Given the description of an element on the screen output the (x, y) to click on. 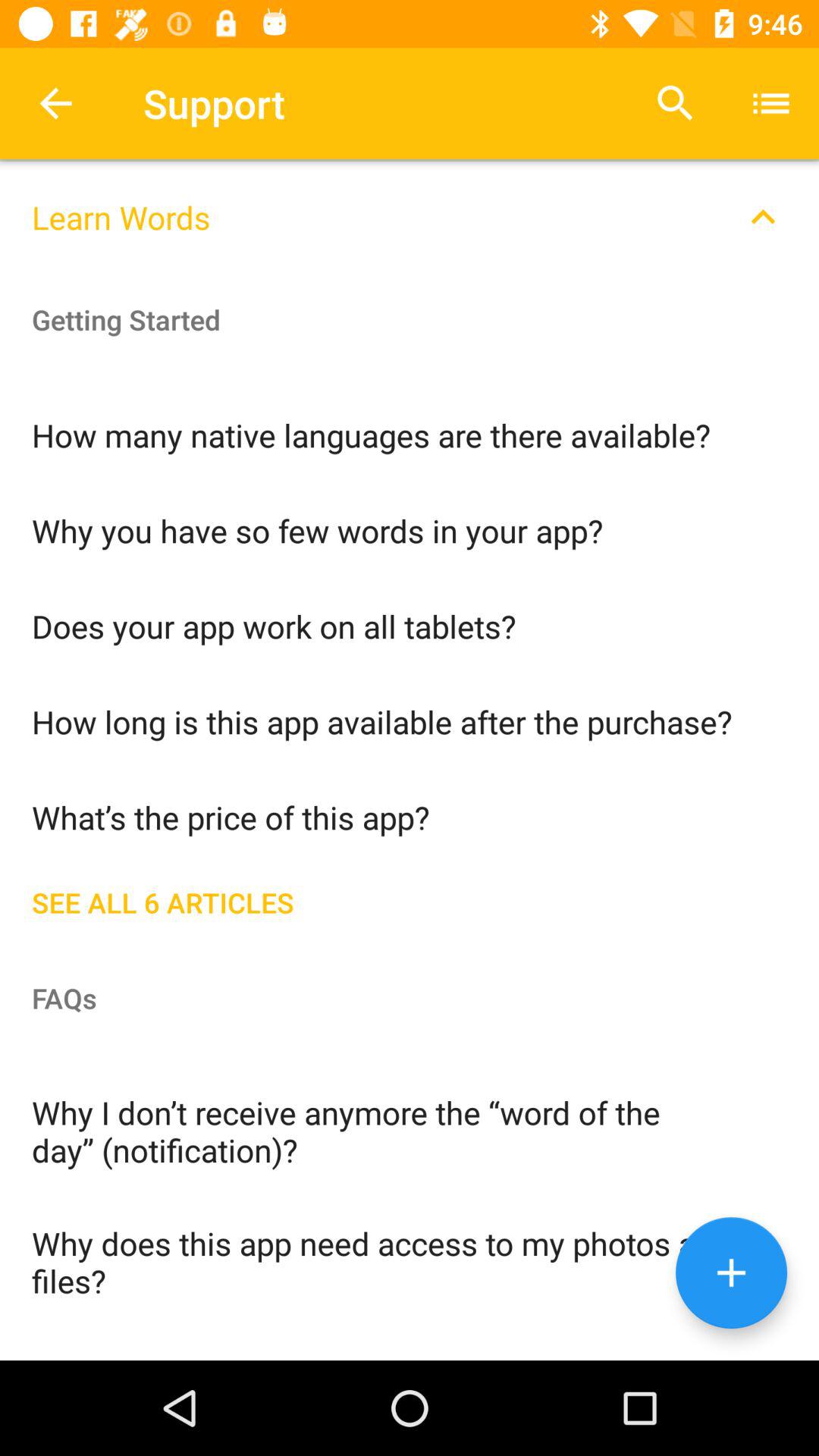
swipe until the why you have icon (409, 529)
